Given the description of an element on the screen output the (x, y) to click on. 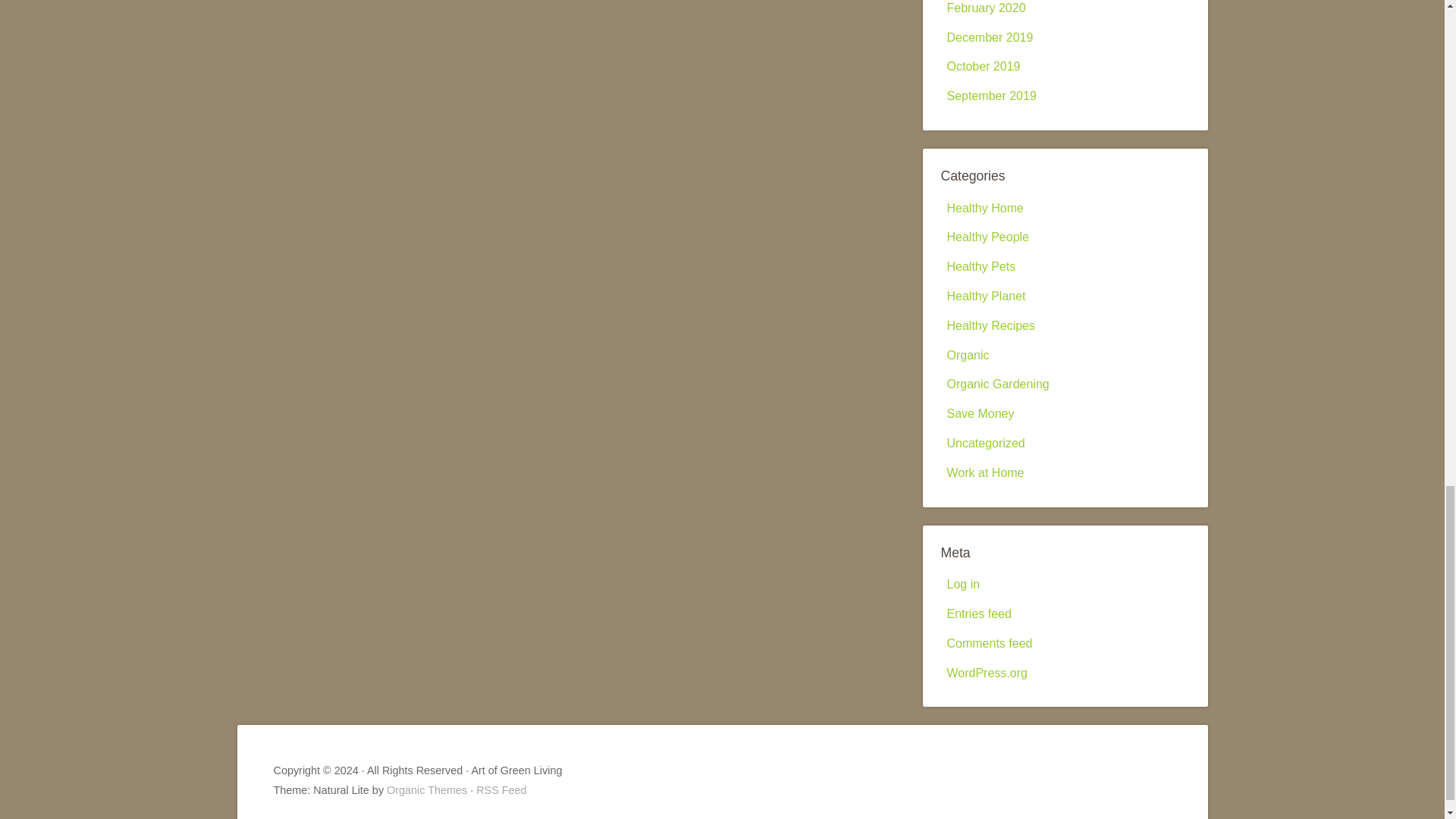
December 2019 (989, 37)
Organic (967, 354)
Healthy Home (984, 207)
Healthy Recipes (990, 325)
Healthy Pets (980, 266)
Organic Gardening (997, 383)
February 2020 (985, 7)
September 2019 (990, 95)
Healthy People (987, 236)
October 2019 (983, 65)
Healthy Planet (985, 295)
